Given the description of an element on the screen output the (x, y) to click on. 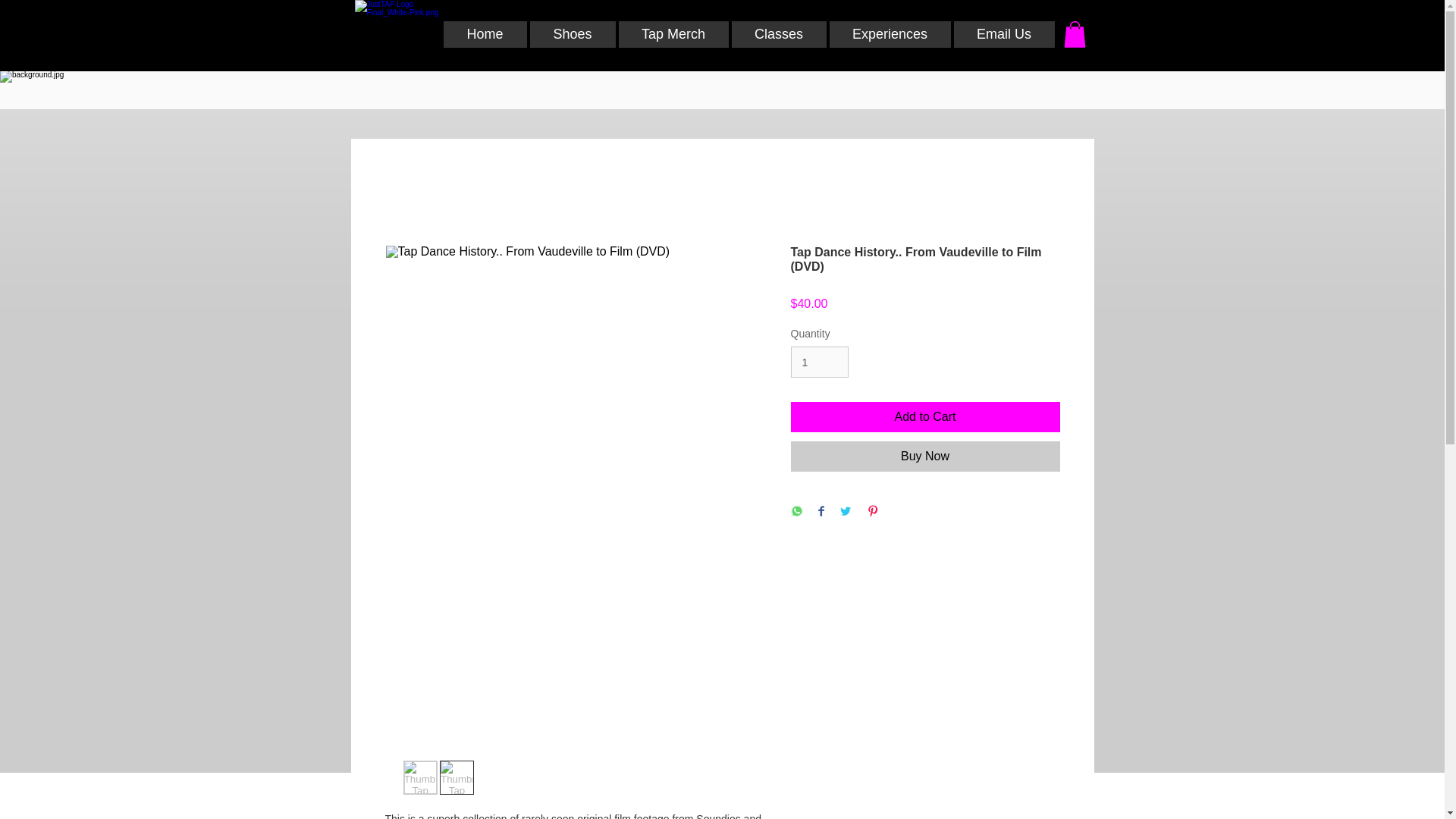
Home (483, 34)
Classes (777, 34)
1 (818, 361)
Experiences (889, 34)
Shoes (571, 34)
Add to Cart (924, 417)
Tap Merch (673, 34)
Buy Now (924, 456)
Email Us (1003, 34)
